Given the description of an element on the screen output the (x, y) to click on. 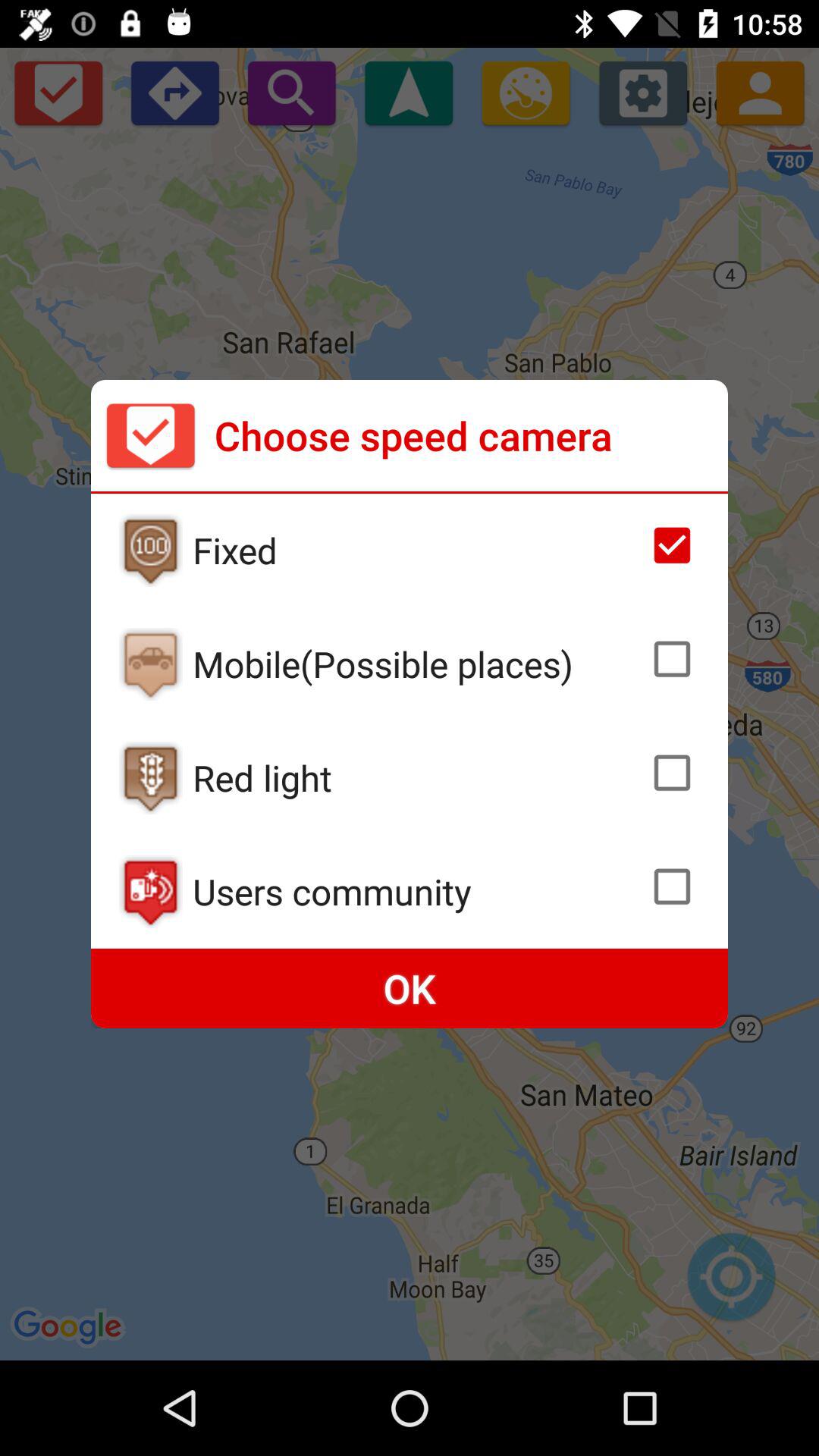
turn on the red light icon (416, 777)
